Given the description of an element on the screen output the (x, y) to click on. 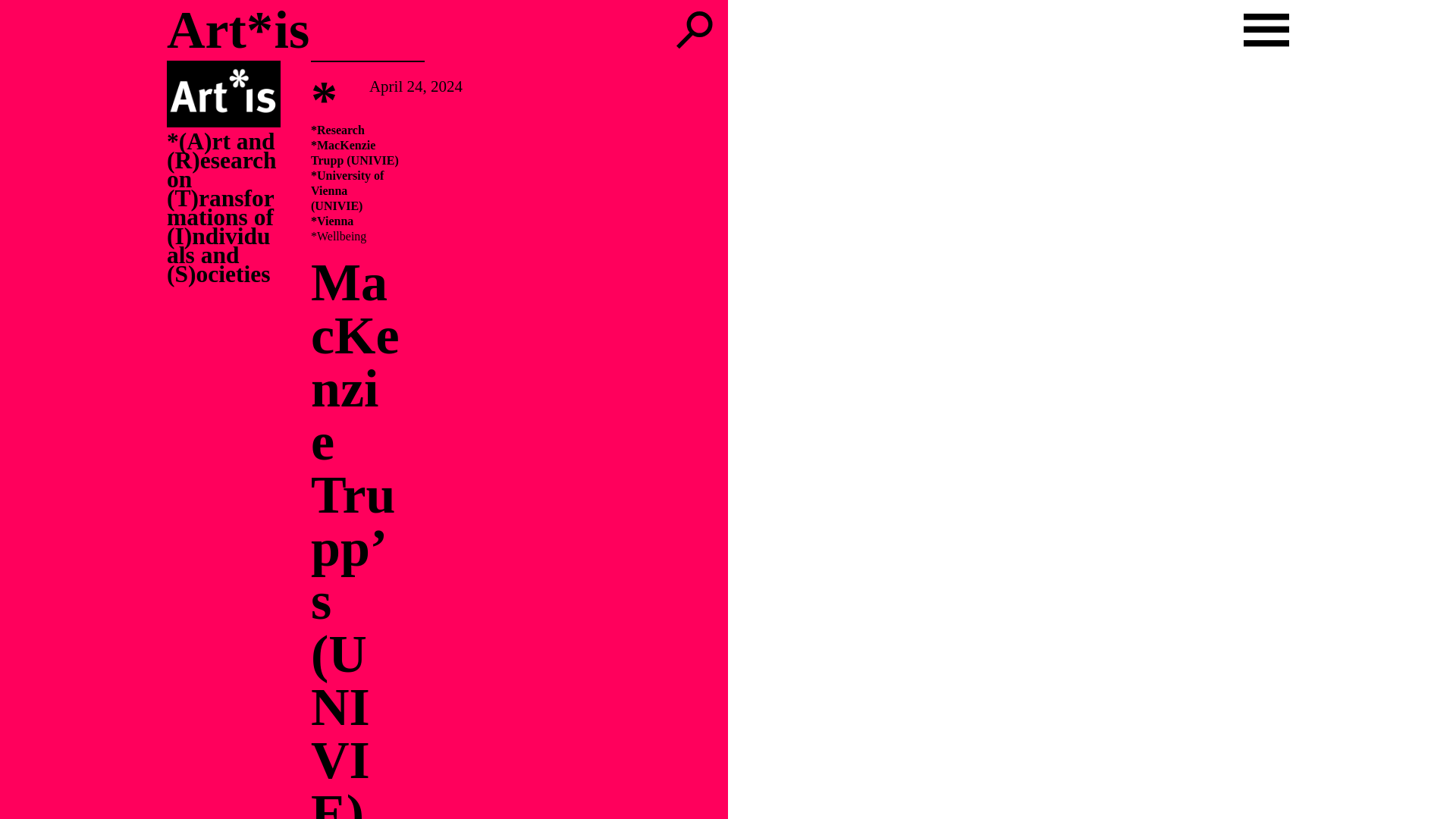
Research (290, 180)
Contact (41, 75)
Event (35, 180)
Exhibition (88, 180)
Publication (227, 180)
Imprint (41, 94)
Presentation (156, 180)
Who we are (55, 36)
Publications and Output (98, 55)
